Given the description of an element on the screen output the (x, y) to click on. 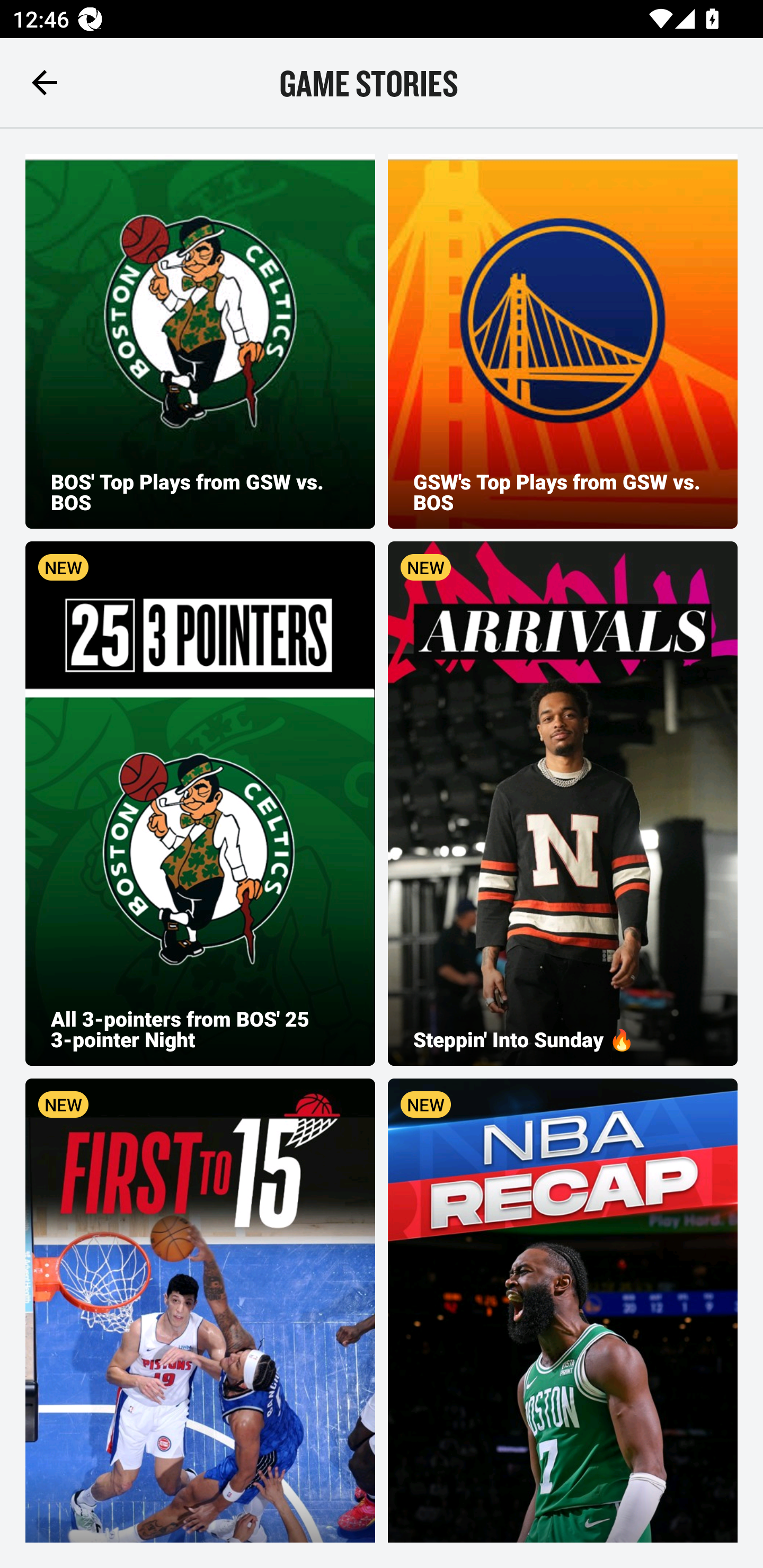
Navigate up (44, 82)
BOS' Top Plays from GSW vs. BOS (200, 340)
GSW's Top Plays from GSW vs. BOS (562, 340)
NEW All 3-pointers from BOS' 25 3-pointer Night (200, 803)
NEW Steppin' Into Sunday 🔥 (562, 803)
NEW (200, 1310)
NEW (562, 1310)
